Given the description of an element on the screen output the (x, y) to click on. 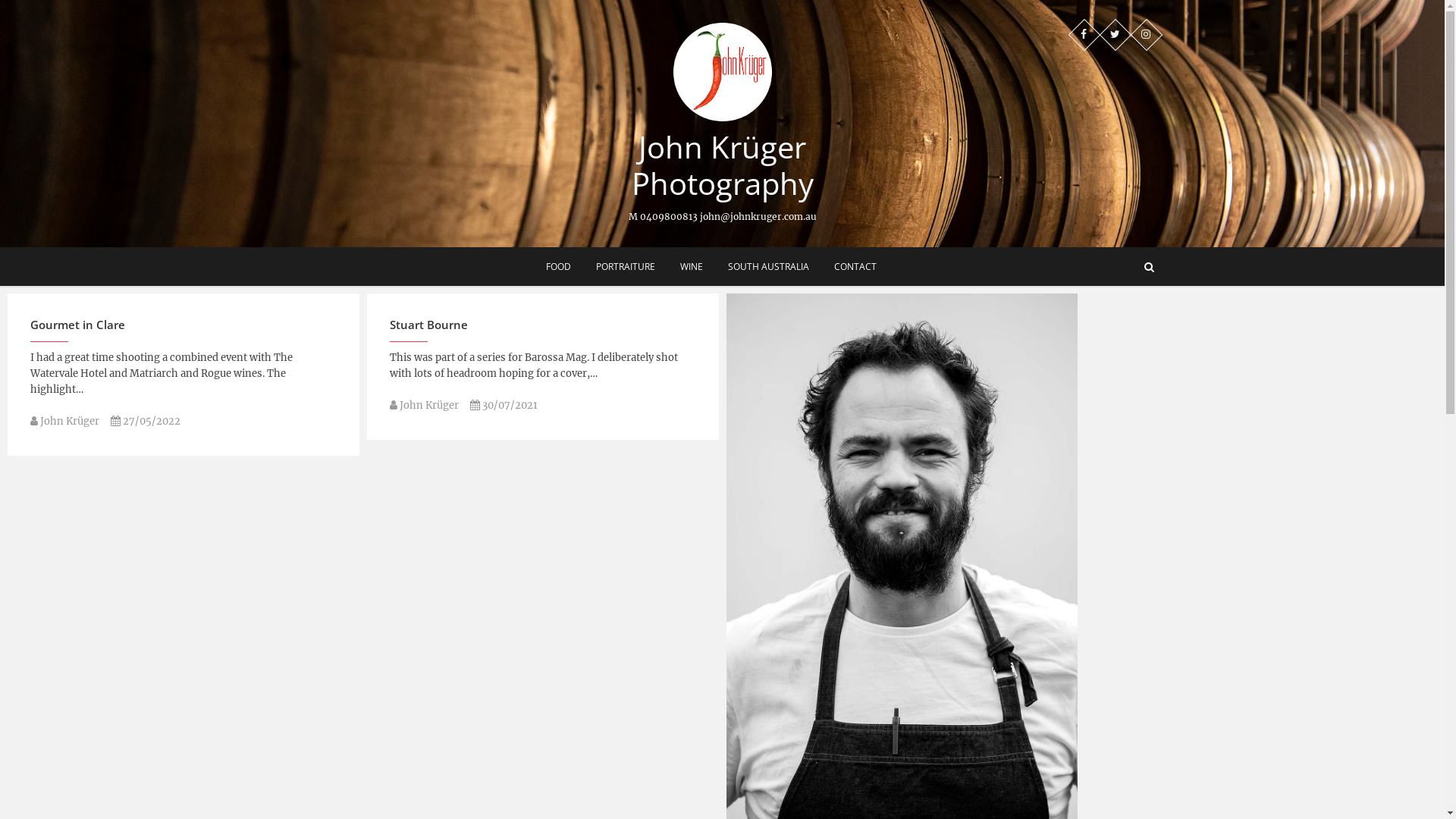
WINE Element type: text (691, 266)
Stuart Bourne Element type: text (428, 327)
CONTACT Element type: text (854, 266)
Gourmet in Clare Element type: text (77, 327)
27/05/2022 Element type: text (145, 420)
SOUTH AUSTRALIA Element type: text (767, 266)
PORTRAITURE Element type: text (624, 266)
FOOD Element type: text (557, 266)
30/07/2021 Element type: text (503, 404)
